Given the description of an element on the screen output the (x, y) to click on. 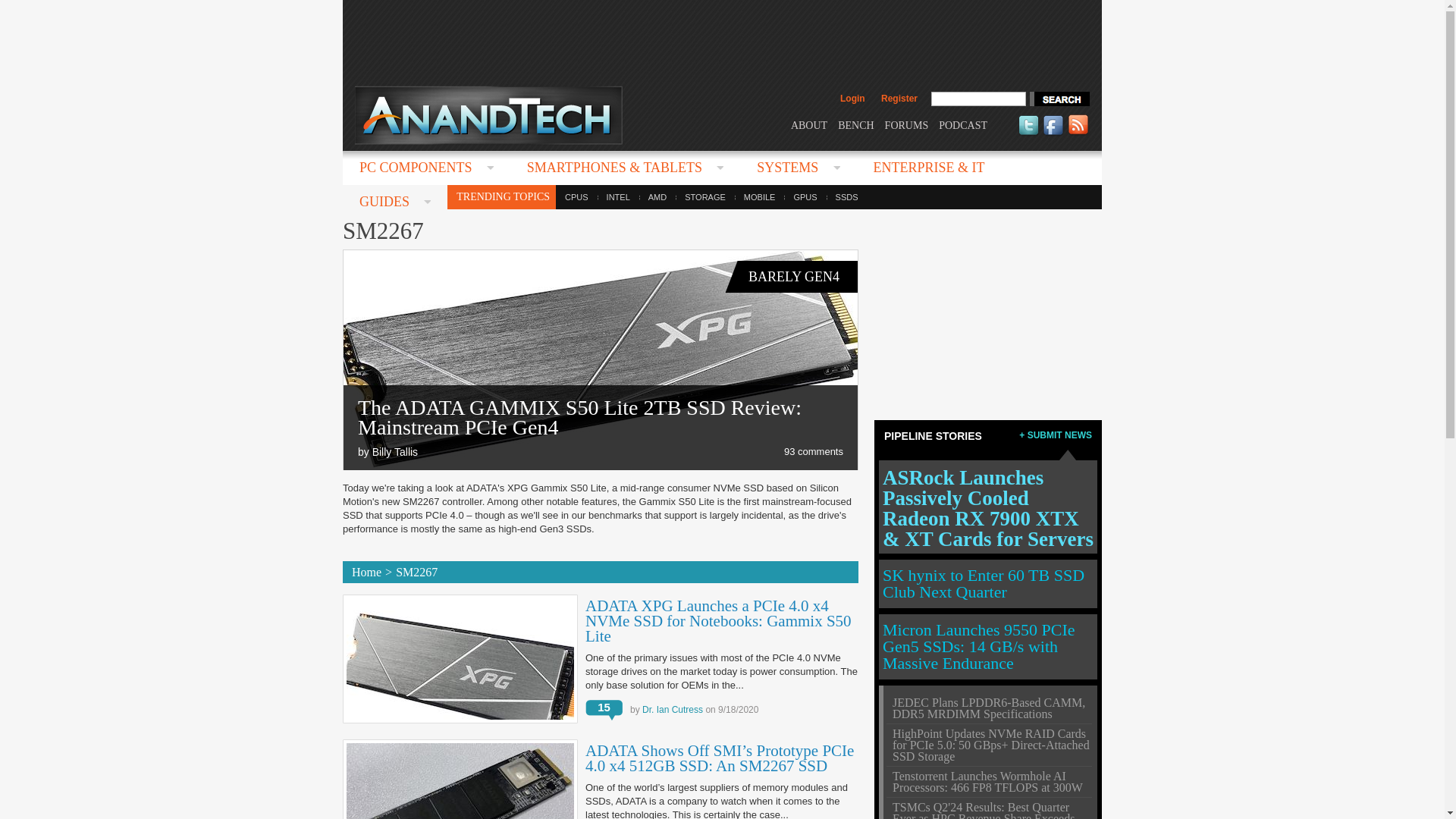
search (1059, 98)
ABOUT (808, 125)
BENCH (855, 125)
Login (852, 98)
search (1059, 98)
Register (898, 98)
search (1059, 98)
PODCAST (963, 125)
FORUMS (906, 125)
